Given the description of an element on the screen output the (x, y) to click on. 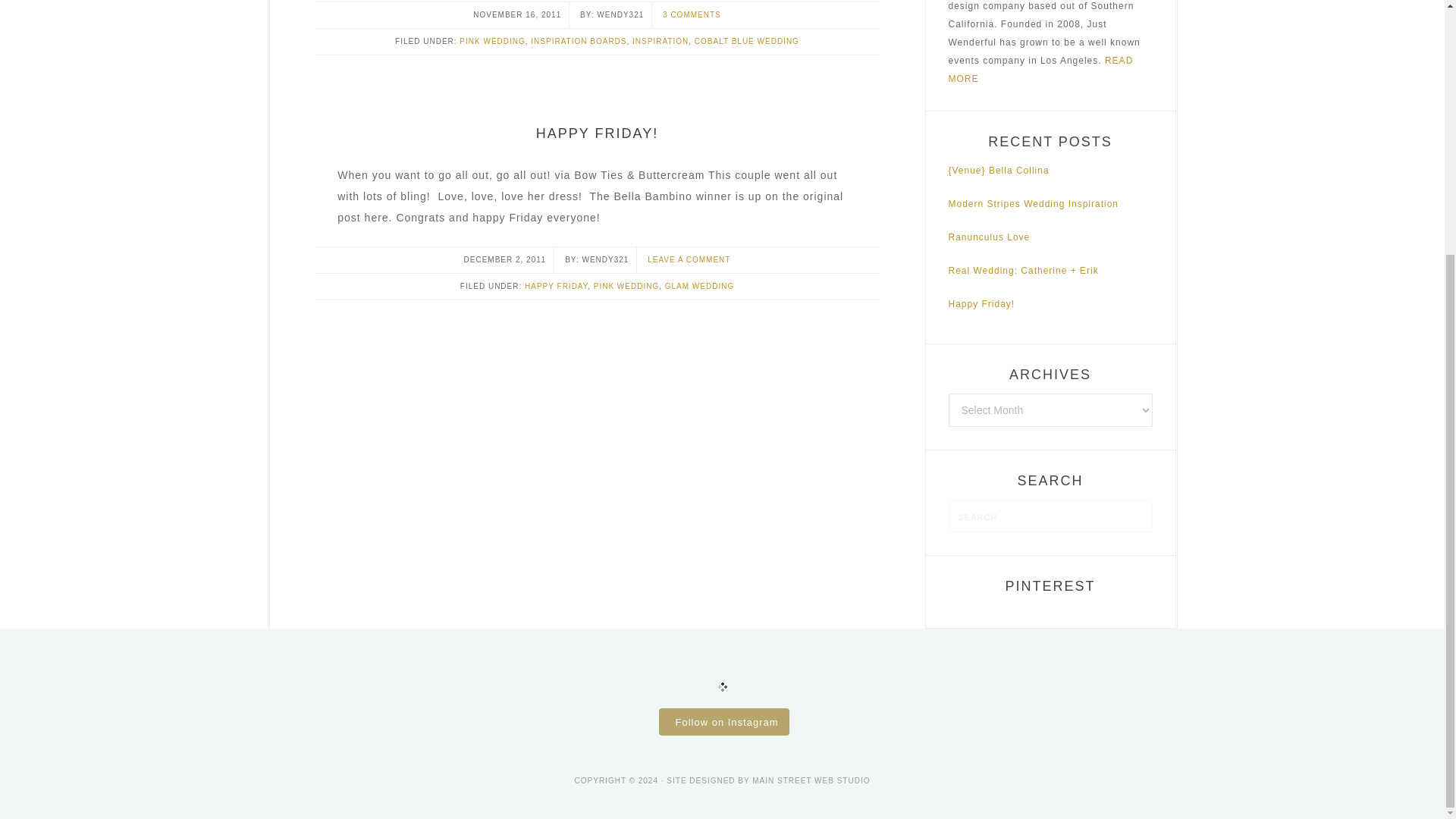
Happy Friday! (980, 303)
Ranunculus Love (988, 236)
COBALT BLUE WEDDING (746, 40)
SITE DESIGNED (702, 780)
LEAVE A COMMENT (688, 259)
PINK WEDDING (492, 40)
MAIN STREET WEB STUDIO (810, 780)
HAPPY FRIDAY! (596, 133)
HAPPY FRIDAY (556, 285)
INSPIRATION (659, 40)
GLAM WEDDING (699, 285)
3 COMMENTS (691, 14)
PINK WEDDING (626, 285)
INSPIRATION BOARDS (578, 40)
READ MORE (1039, 69)
